Given the description of an element on the screen output the (x, y) to click on. 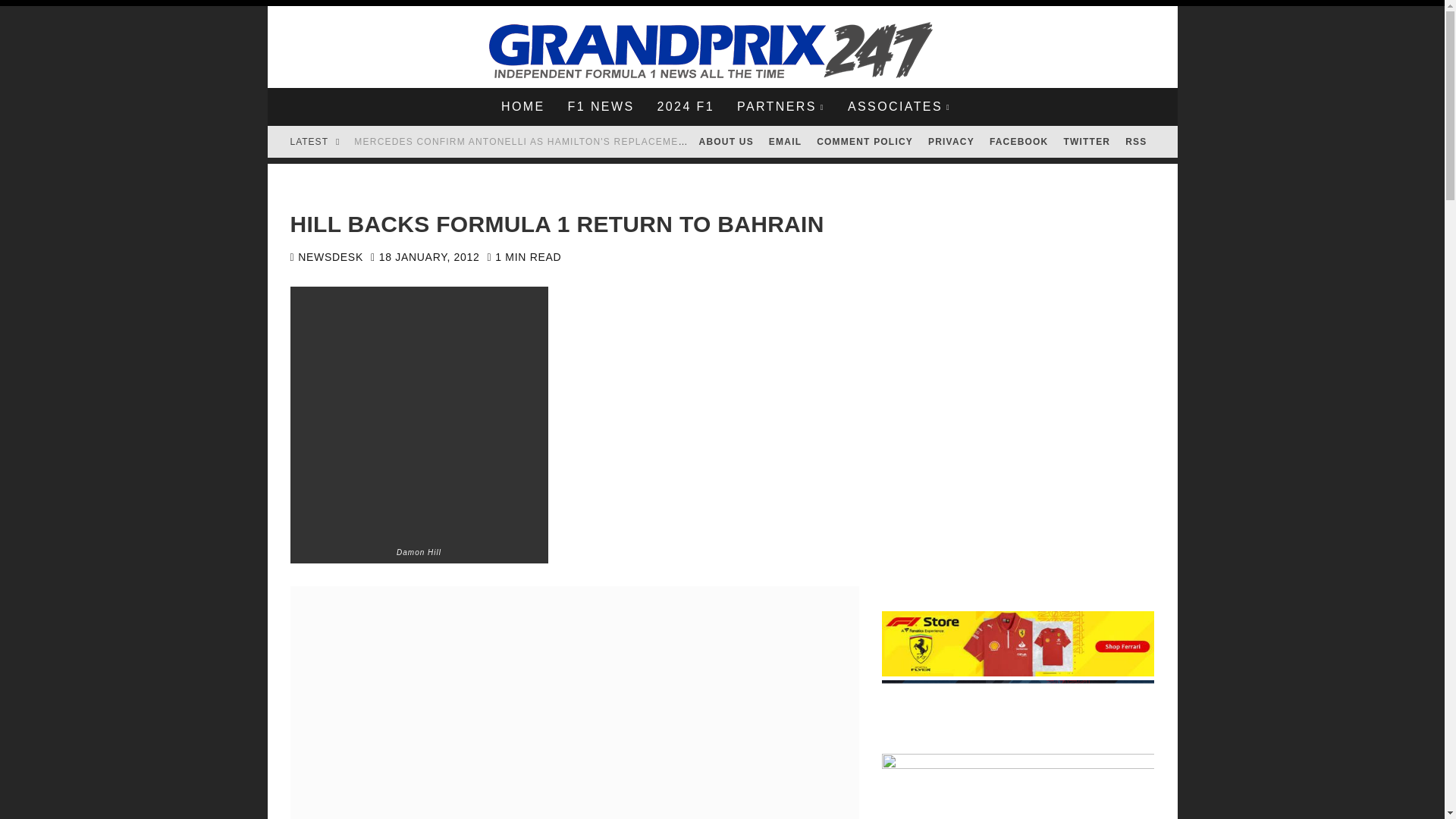
Mercedes confirm Antonelli as Hamilton's replacement in 2025 (543, 141)
EMAIL (785, 142)
2024 F1 (685, 106)
HOME (522, 106)
FACEBOOK (1019, 142)
PRIVACY (950, 142)
Twitter GrandPrix247 (1086, 142)
F1 NEWS (601, 106)
